Given the description of an element on the screen output the (x, y) to click on. 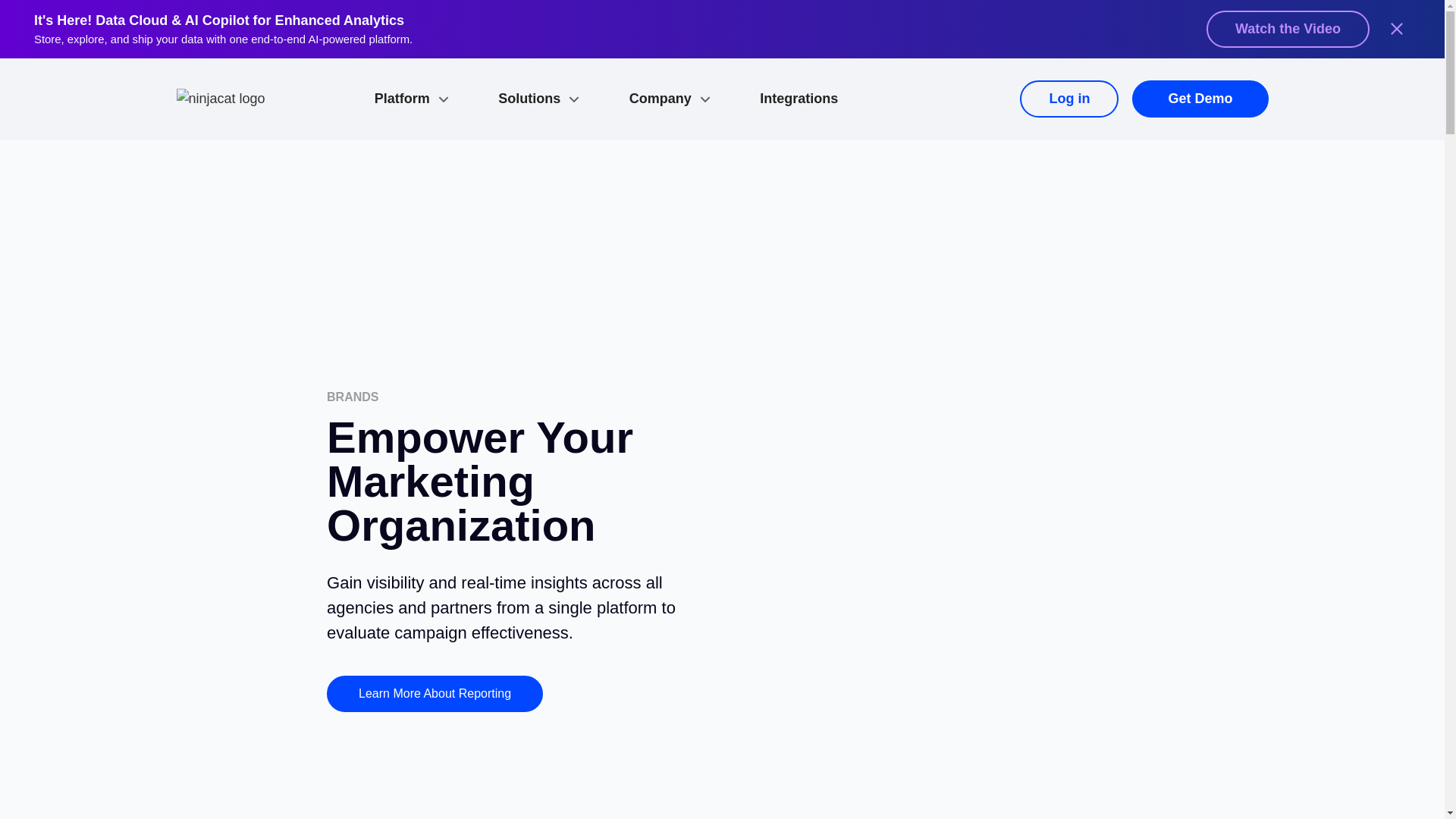
Watch the Video (1288, 28)
Integrations (798, 98)
